Given the description of an element on the screen output the (x, y) to click on. 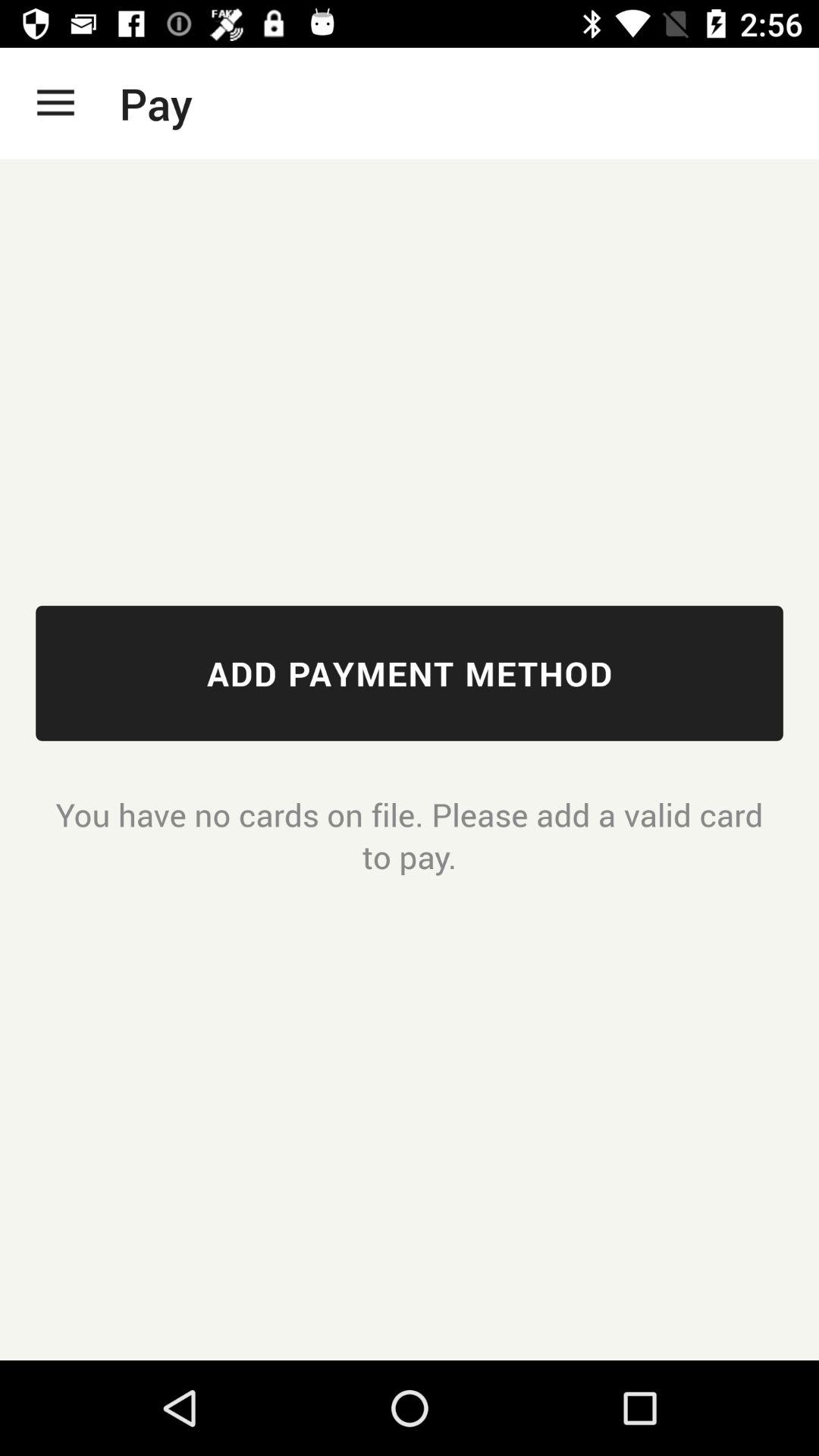
select the app next to the pay icon (55, 103)
